Given the description of an element on the screen output the (x, y) to click on. 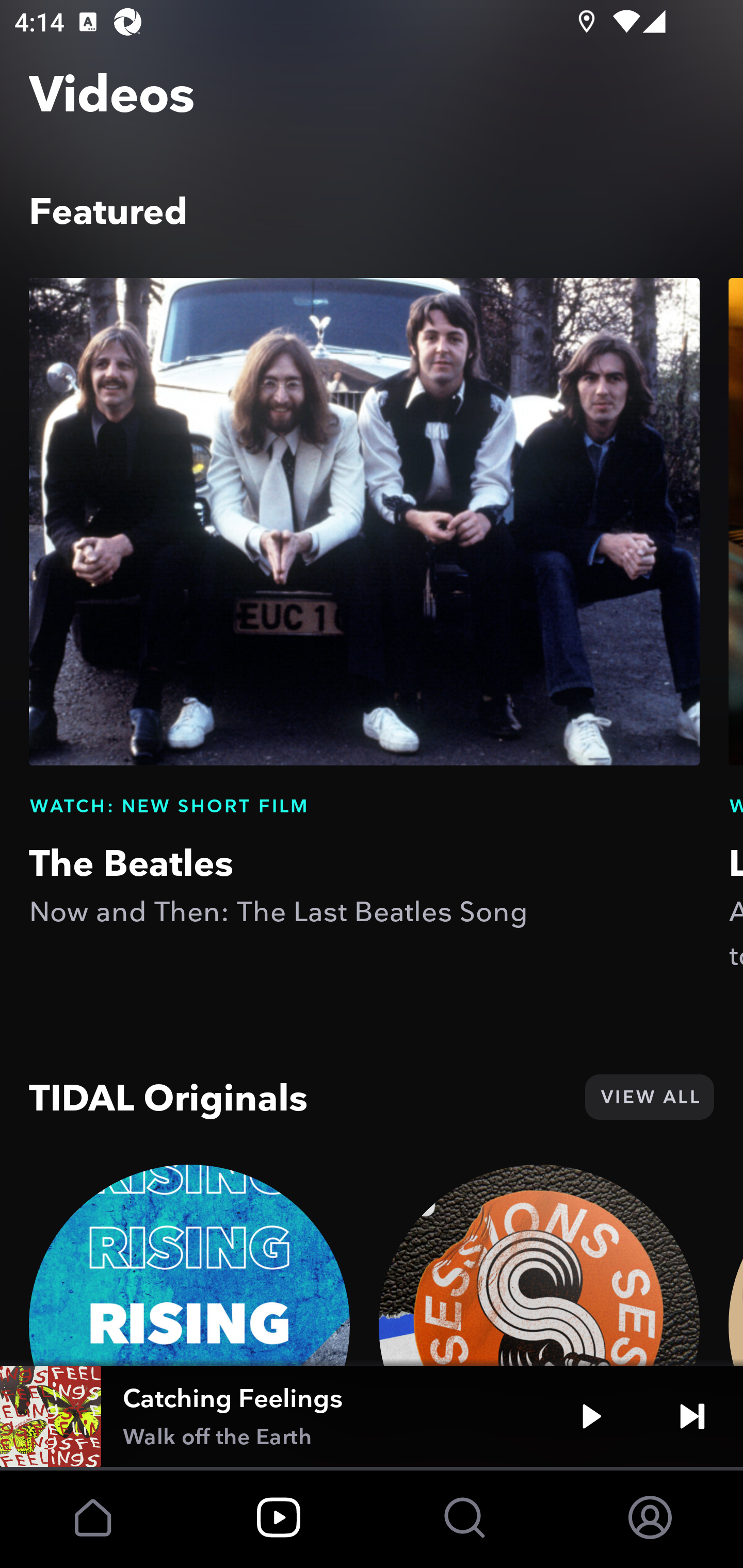
VIEW ALL (649, 1096)
Catching Feelings Walk off the Earth Play (371, 1416)
Play (590, 1416)
